Given the description of an element on the screen output the (x, y) to click on. 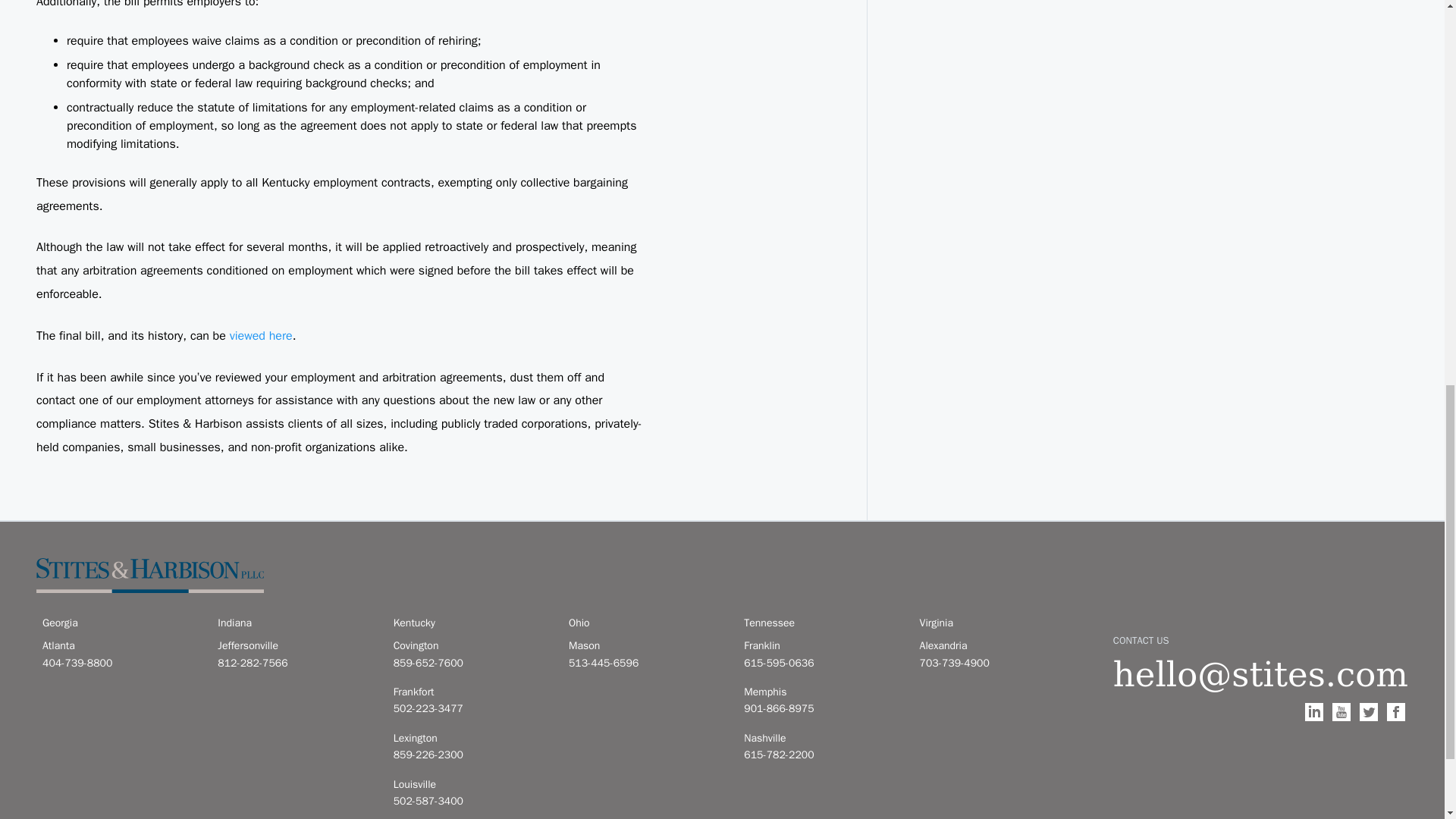
Jeffersonville (295, 646)
859-226-2300 (471, 754)
859-652-7600 (471, 663)
Frankfort (471, 692)
Alexandria (998, 646)
502-587-3400 (471, 801)
404-739-8800 (120, 663)
Memphis (822, 692)
615-595-0636 (822, 663)
Lexington (471, 738)
